Given the description of an element on the screen output the (x, y) to click on. 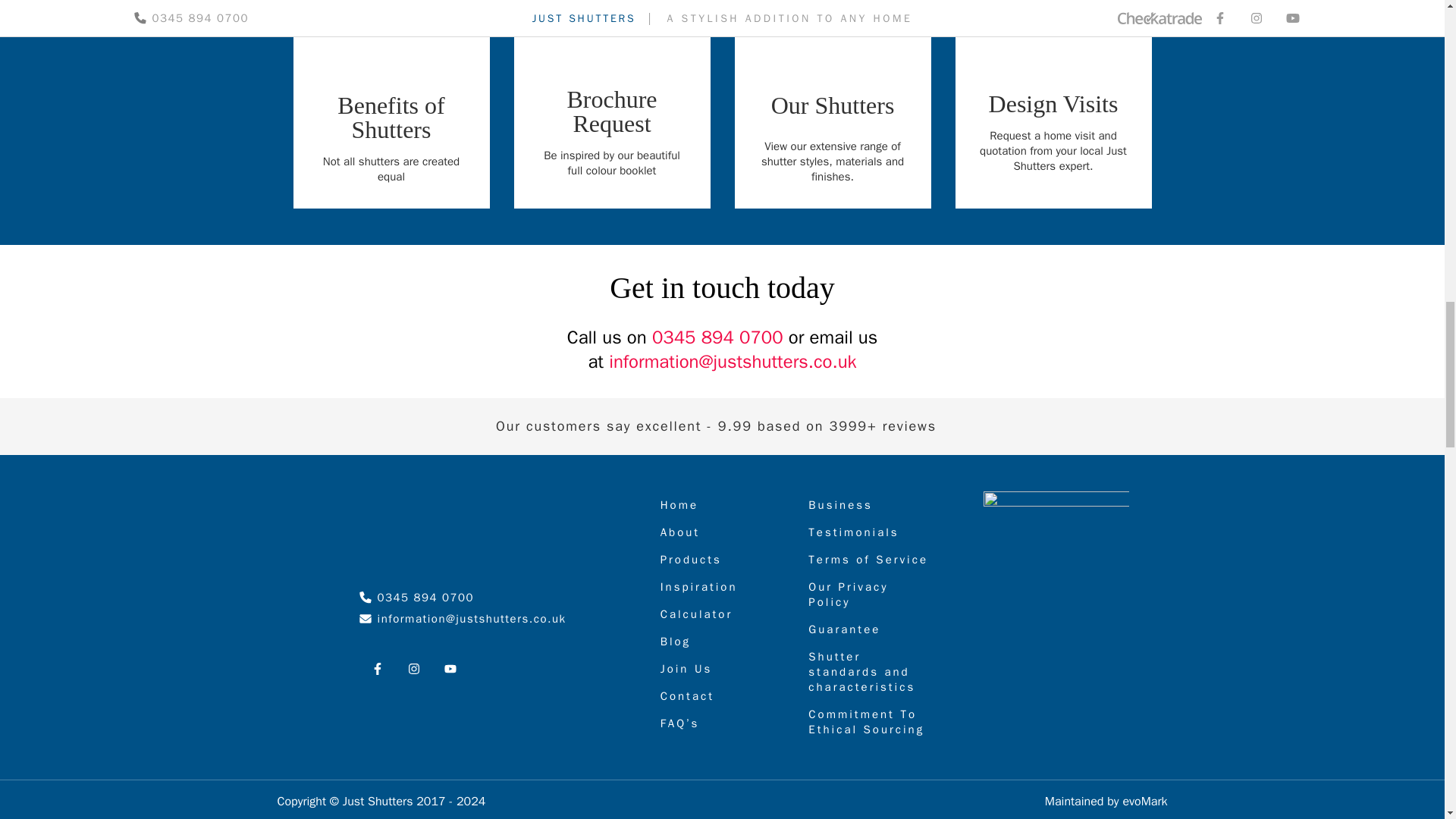
Contact (721, 696)
0345 894 0700 (416, 596)
0345 894 0700 (717, 336)
Join Us (721, 668)
Products (721, 559)
About (721, 532)
Calculator (721, 614)
Home (721, 504)
Inspiration (721, 586)
Email Us (390, 104)
Blog (462, 618)
